Given the description of an element on the screen output the (x, y) to click on. 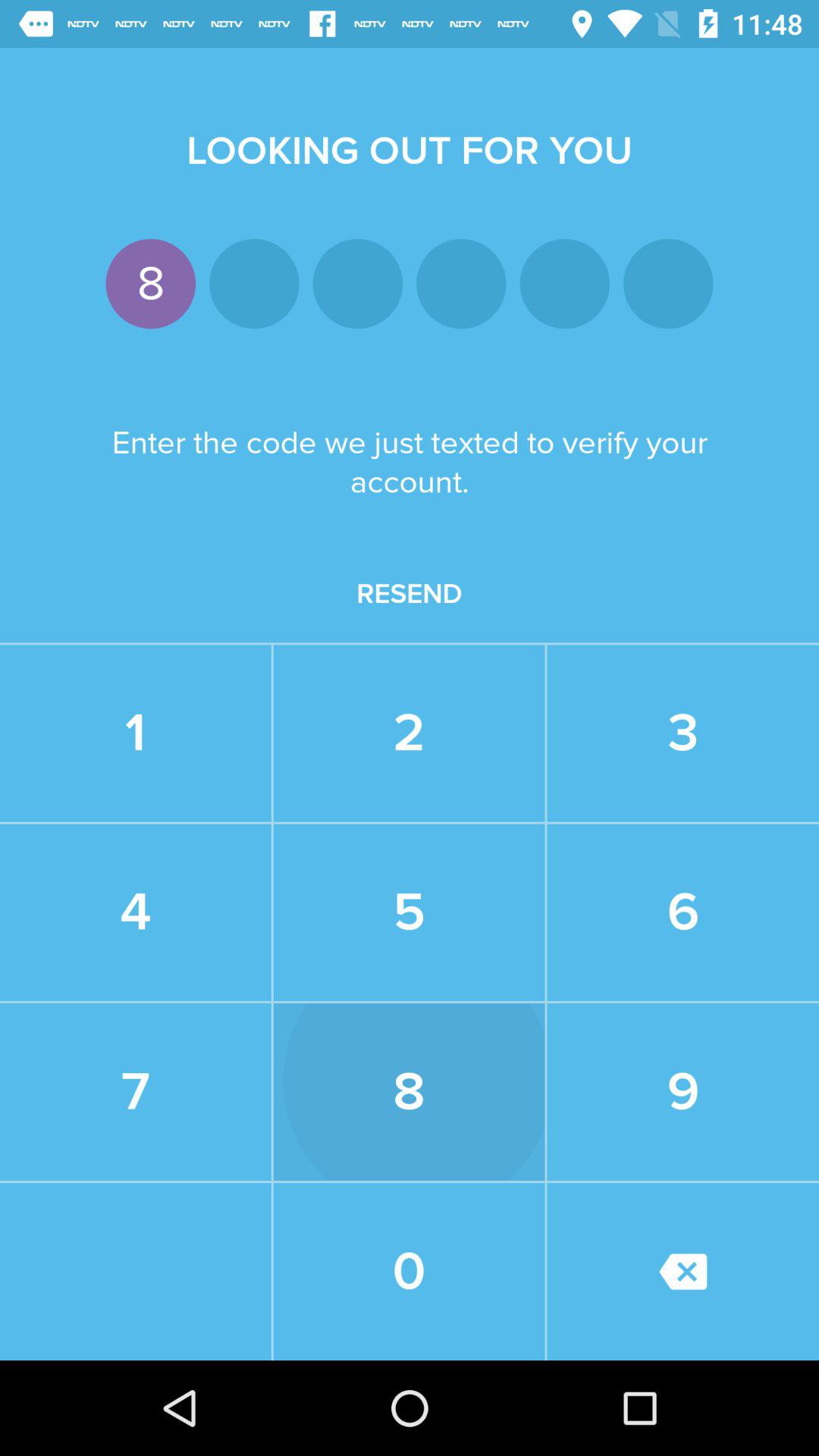
turn off the 1 icon (135, 732)
